Given the description of an element on the screen output the (x, y) to click on. 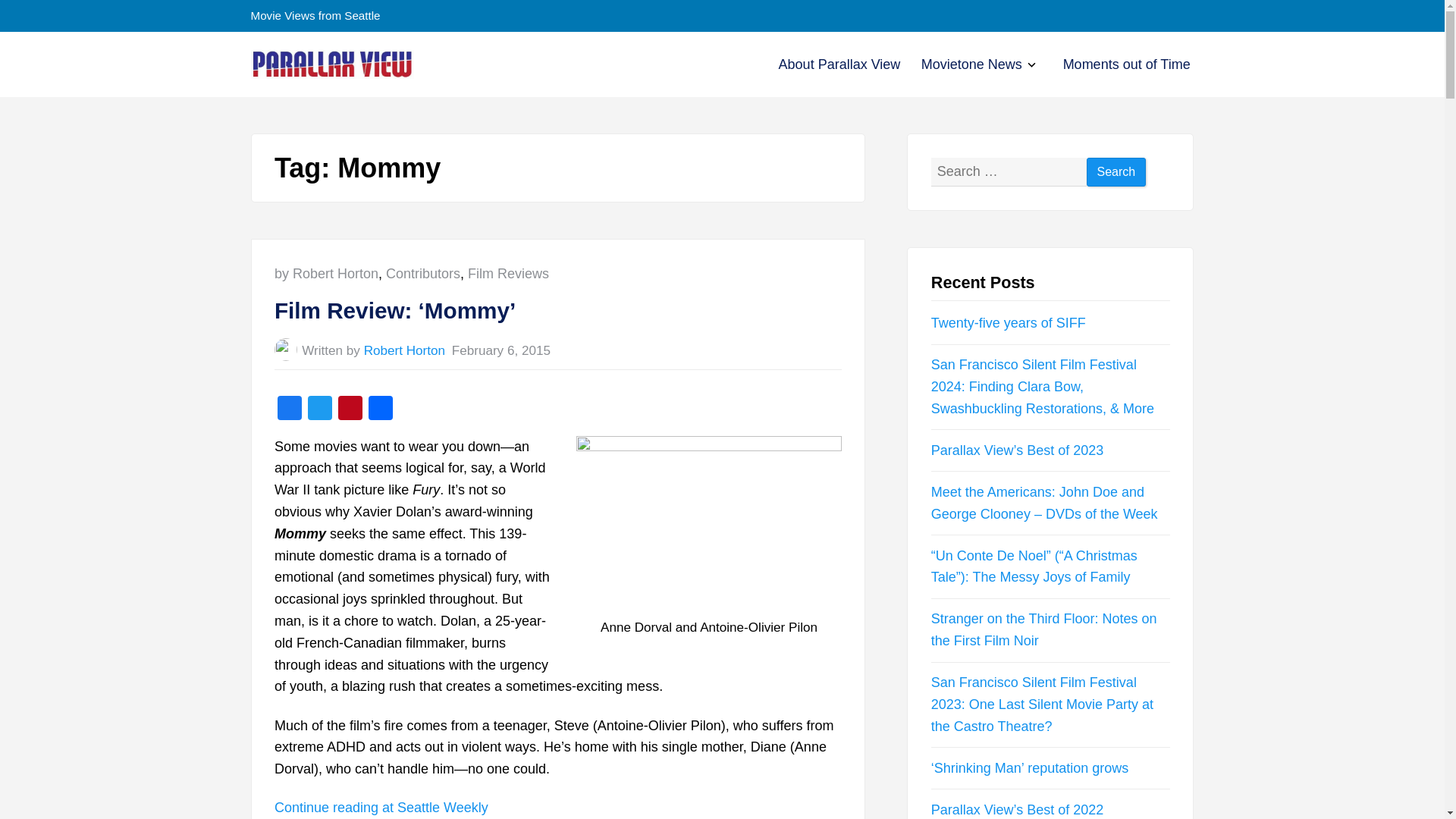
Search (1115, 172)
Continue reading at Seattle Weekly (381, 807)
Movietone News (971, 64)
About Parallax View (839, 64)
Contributors (422, 273)
Search (1115, 172)
Pinterest (349, 409)
Twenty-five years of SIFF (1008, 322)
Pinterest (349, 409)
